Given the description of an element on the screen output the (x, y) to click on. 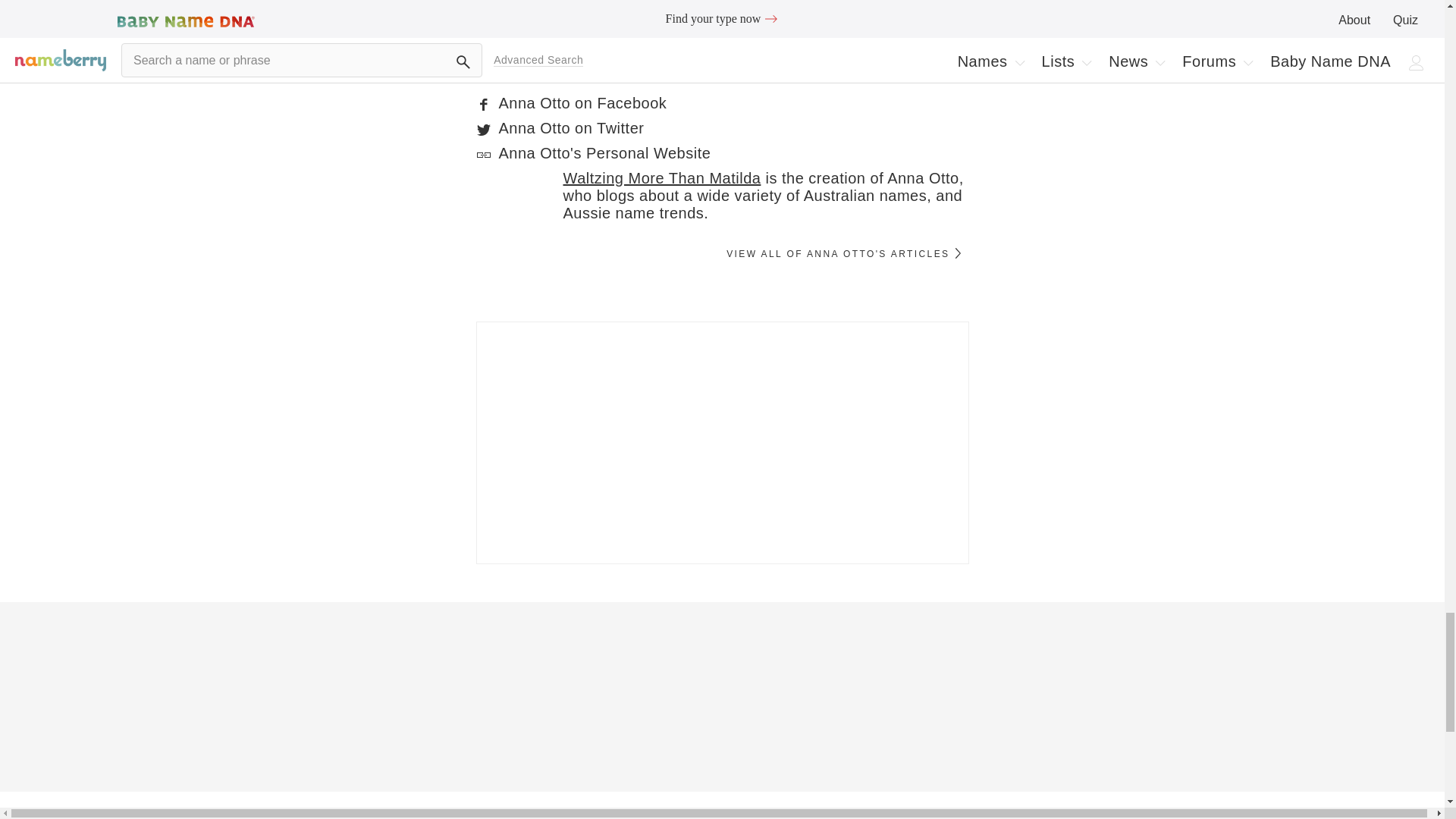
Twitter (484, 129)
Link (484, 154)
Facebook (484, 104)
Sign up for the Nameberry Newsletter (722, 442)
